Given the description of an element on the screen output the (x, y) to click on. 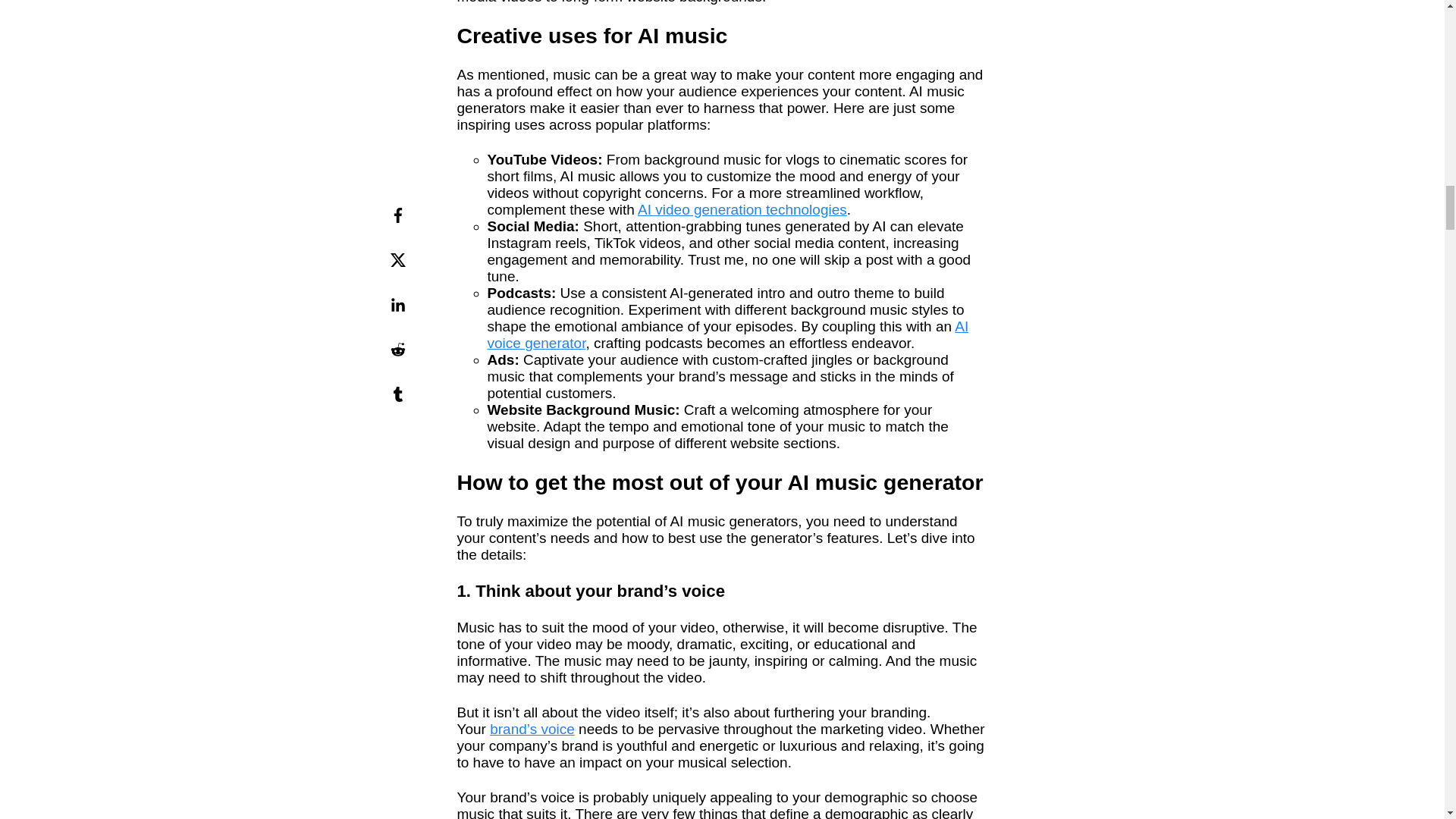
AI video generation technologies (742, 209)
AI voice generator (727, 334)
